Given the description of an element on the screen output the (x, y) to click on. 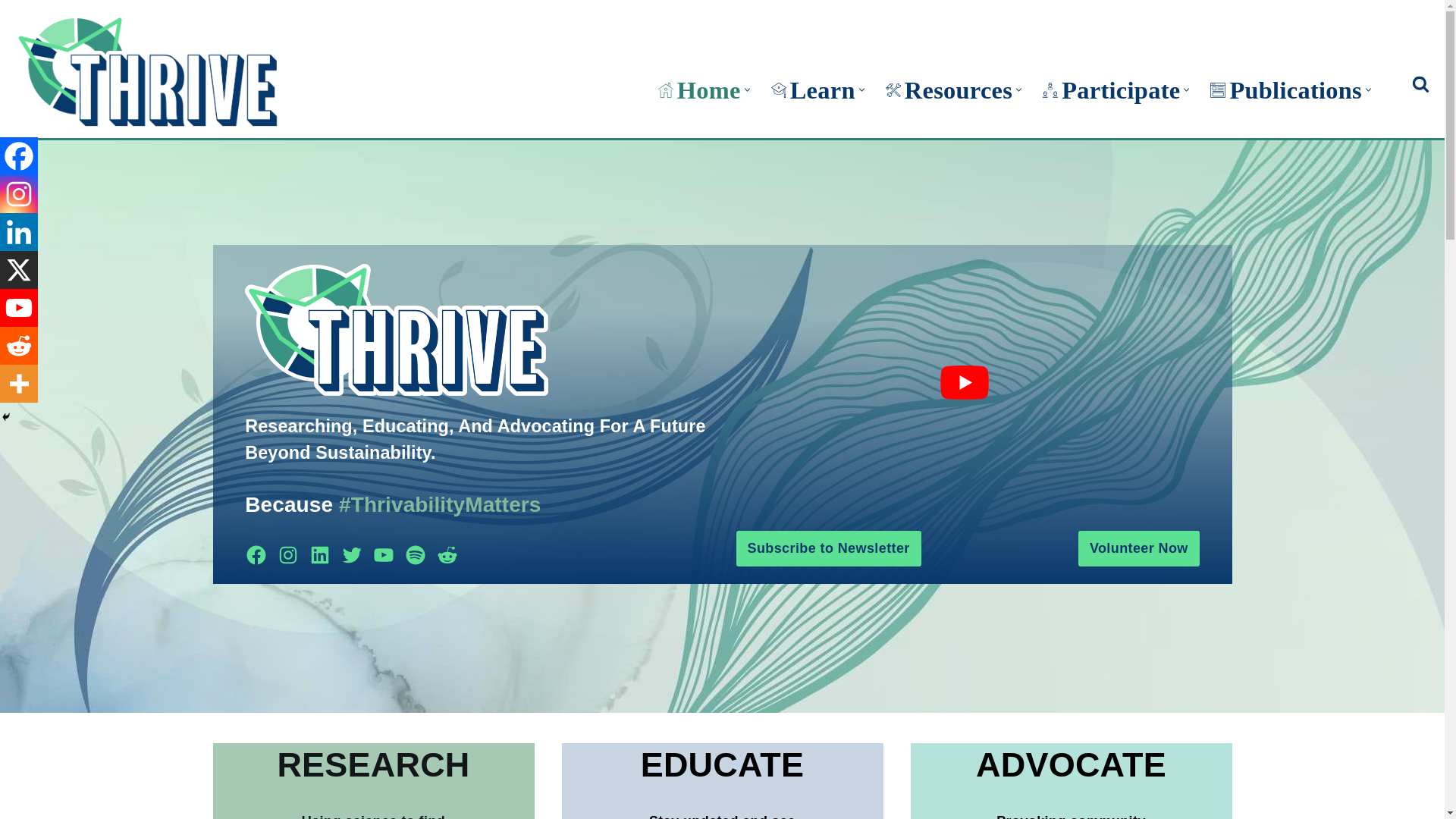
Publications (1285, 89)
Skip to content (11, 31)
THRIVE Project (147, 72)
Instagram (18, 193)
Participate (1110, 89)
X (18, 269)
Reddit (18, 345)
Learn (813, 89)
Hide (5, 417)
Linkedin (18, 231)
